Given the description of an element on the screen output the (x, y) to click on. 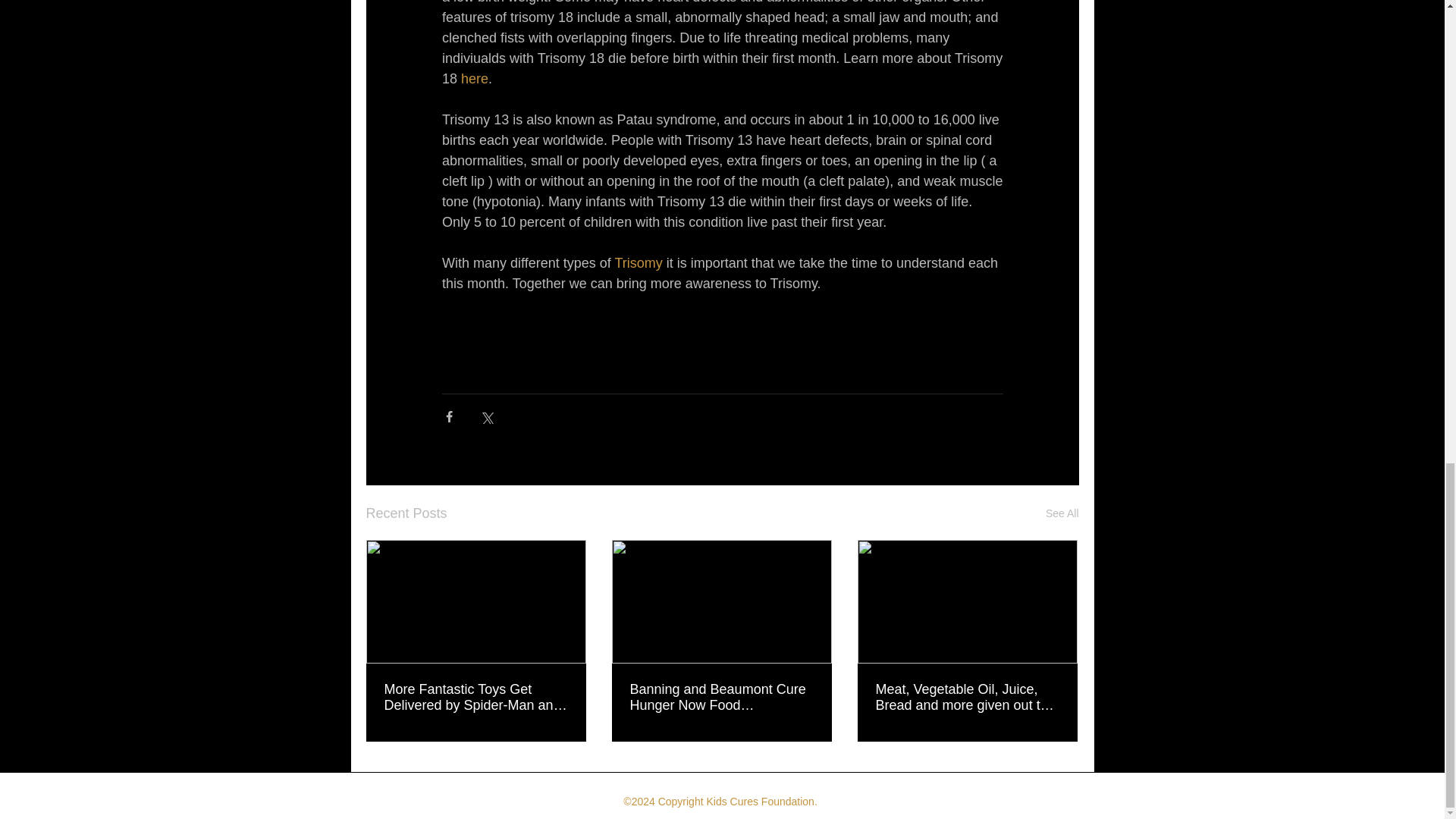
More Fantastic Toys Get Delivered by Spider-Man and Belle (475, 697)
See All (1061, 513)
here (474, 78)
Trisomy (638, 263)
